Given the description of an element on the screen output the (x, y) to click on. 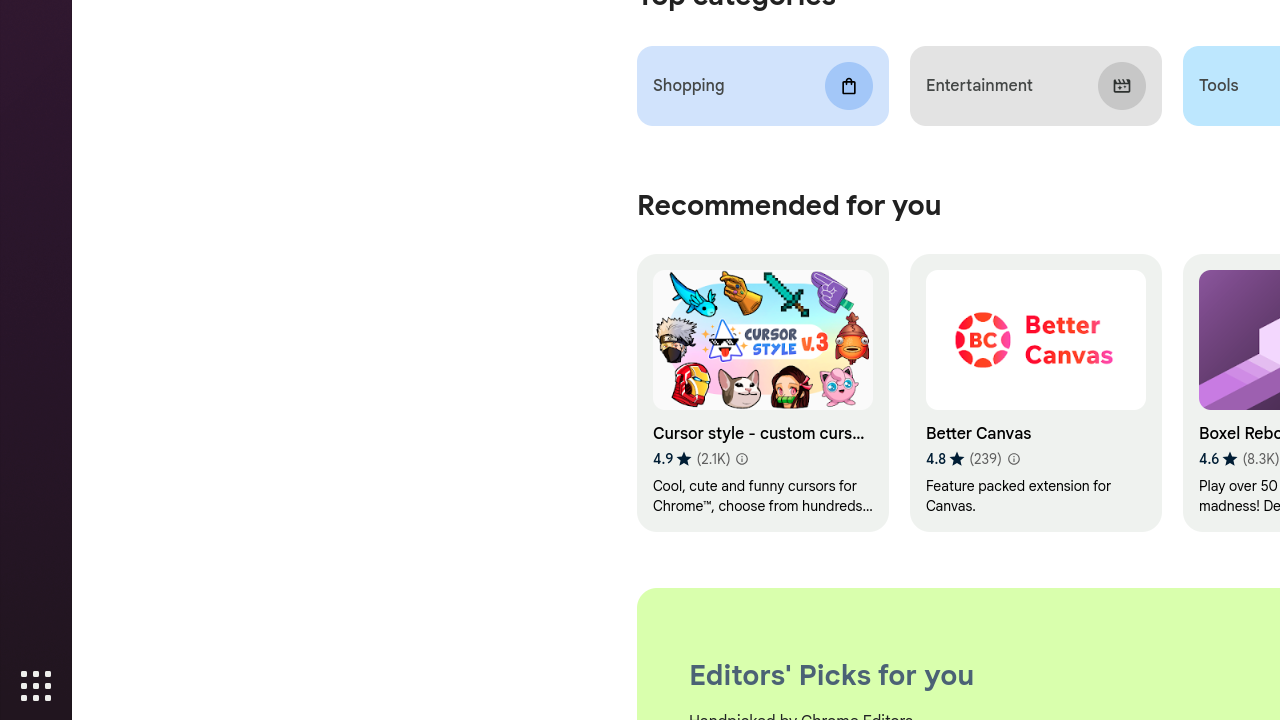
Show Applications Element type: toggle-button (36, 686)
Learn more about results and reviews "Better Canvas" Element type: push-button (1013, 459)
